Given the description of an element on the screen output the (x, y) to click on. 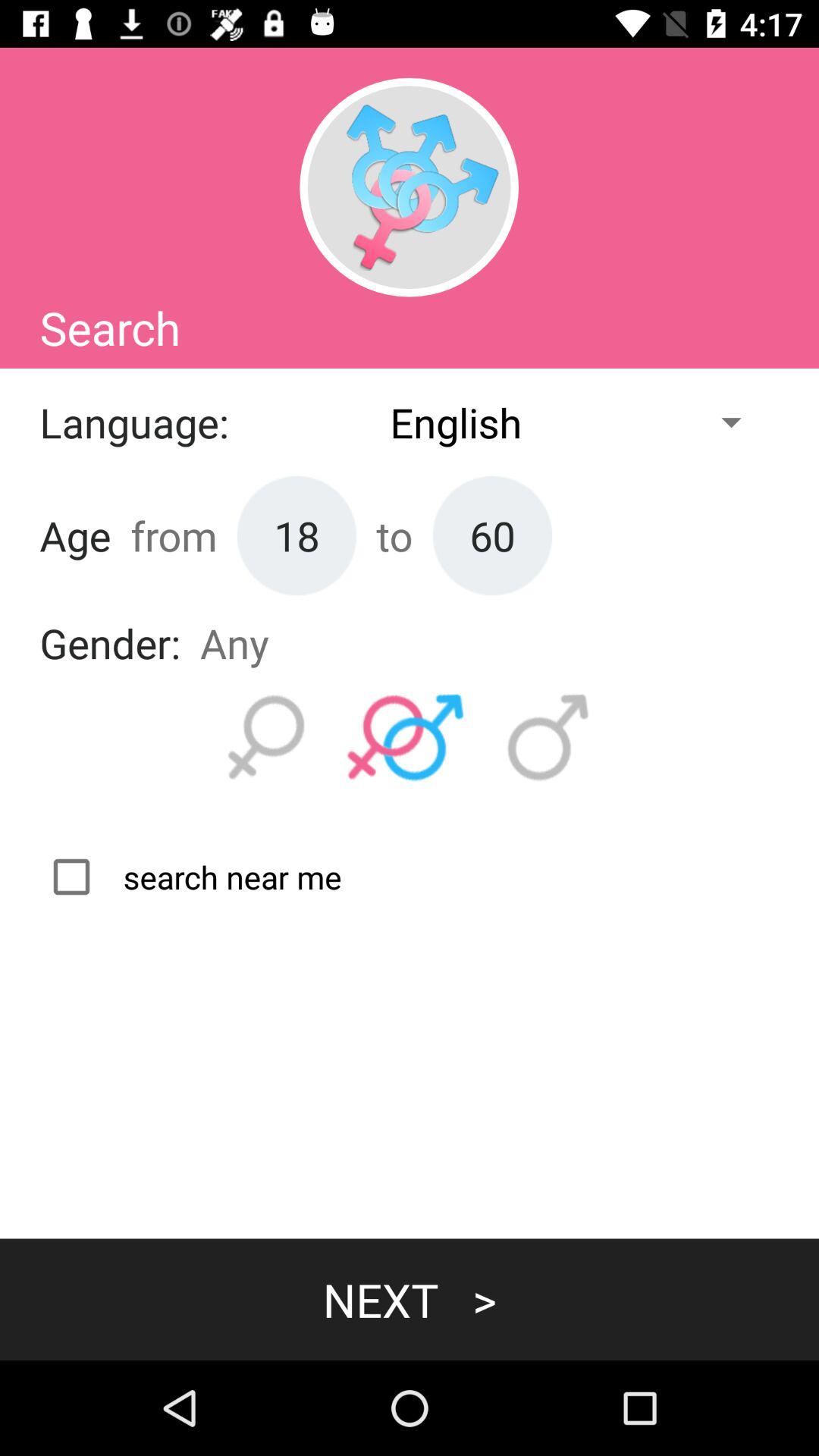
select gender male (548, 738)
